Given the description of an element on the screen output the (x, y) to click on. 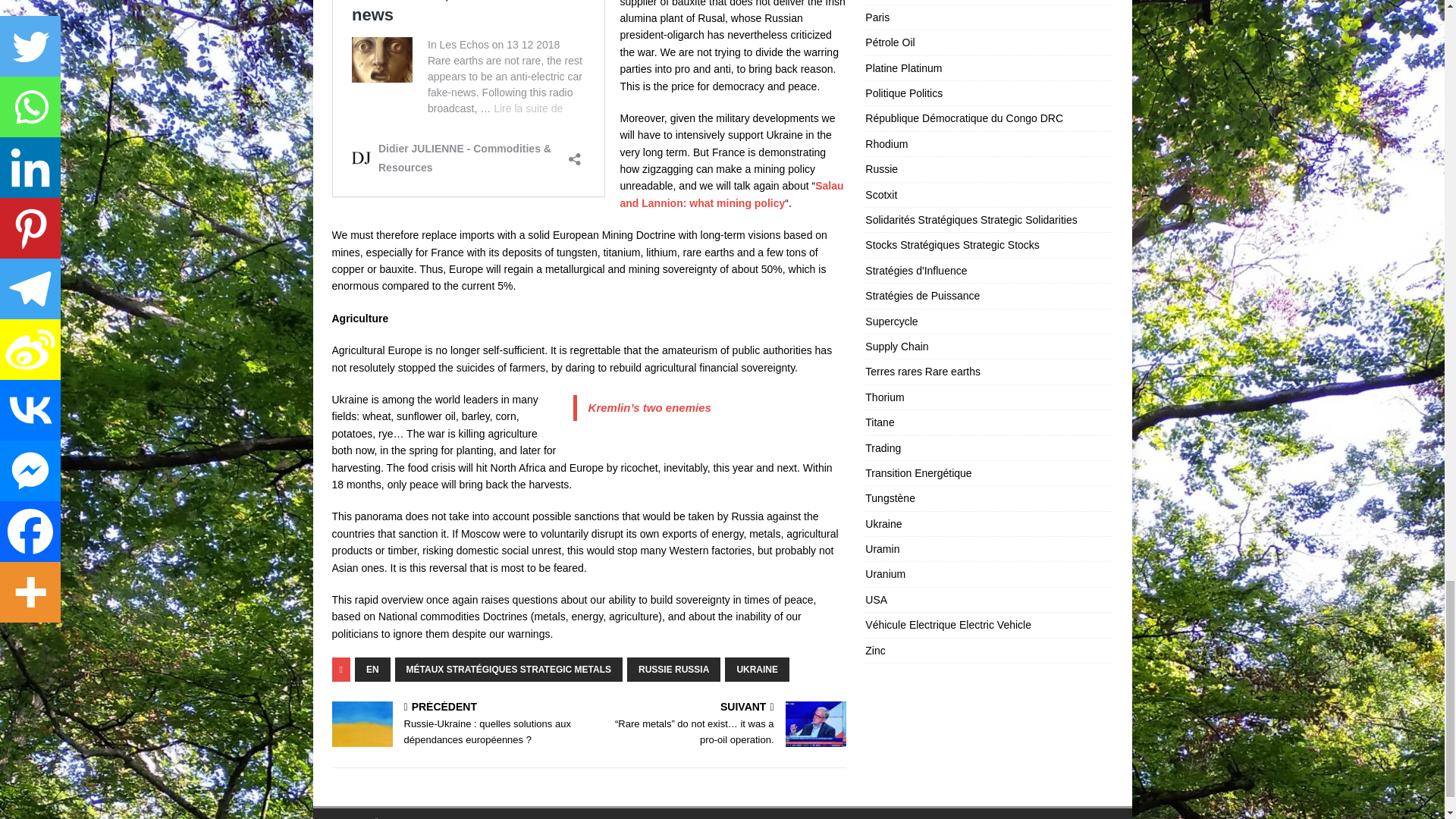
Salau and Lannion: what mining policy (732, 193)
